Given the description of an element on the screen output the (x, y) to click on. 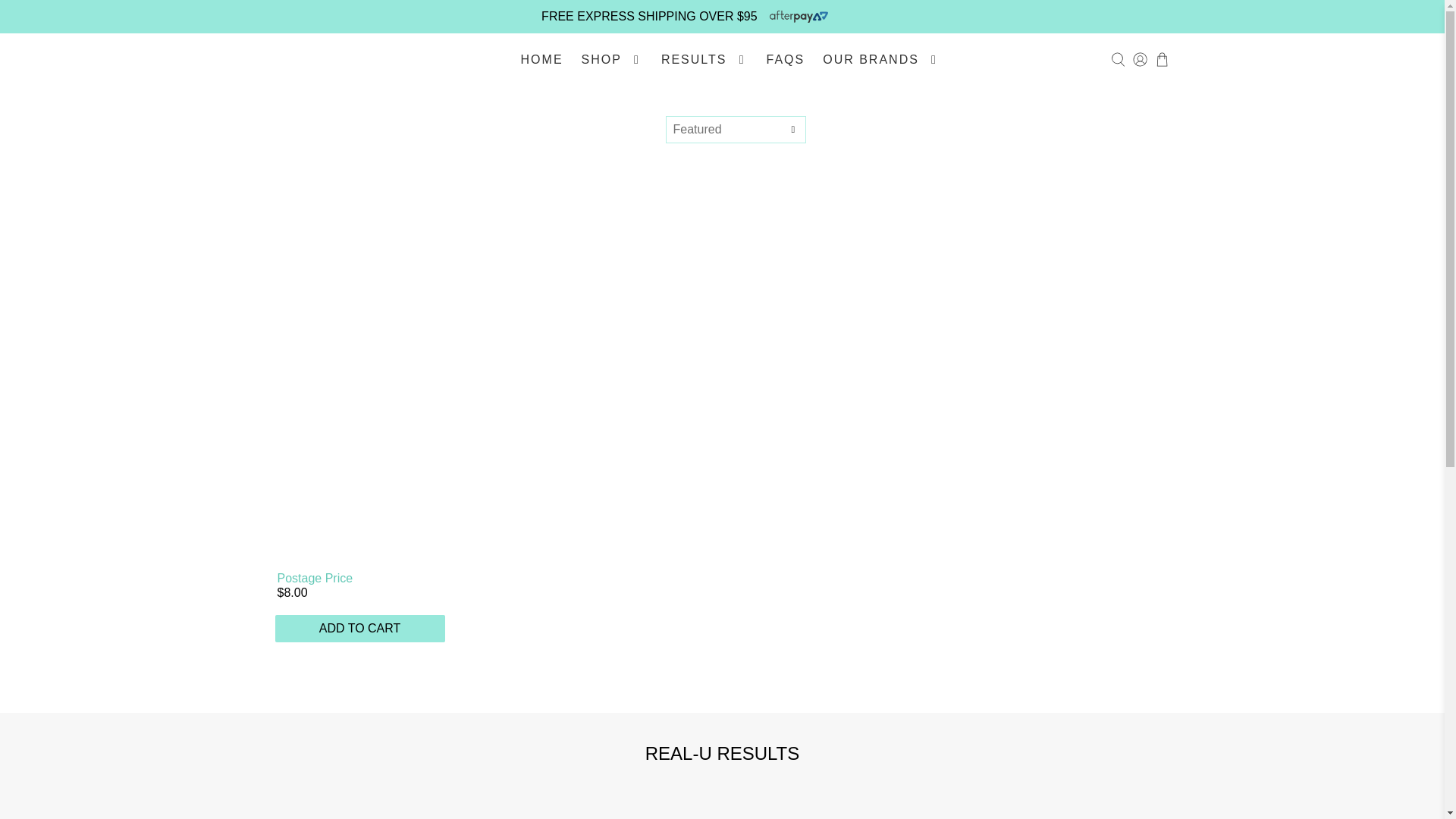
real-u (313, 59)
FAQS (785, 59)
RESULTS (704, 59)
OUR BRANDS (881, 59)
ADD TO CART (359, 628)
HOME (542, 59)
Postage Price (315, 577)
SHOP (612, 59)
